Given the description of an element on the screen output the (x, y) to click on. 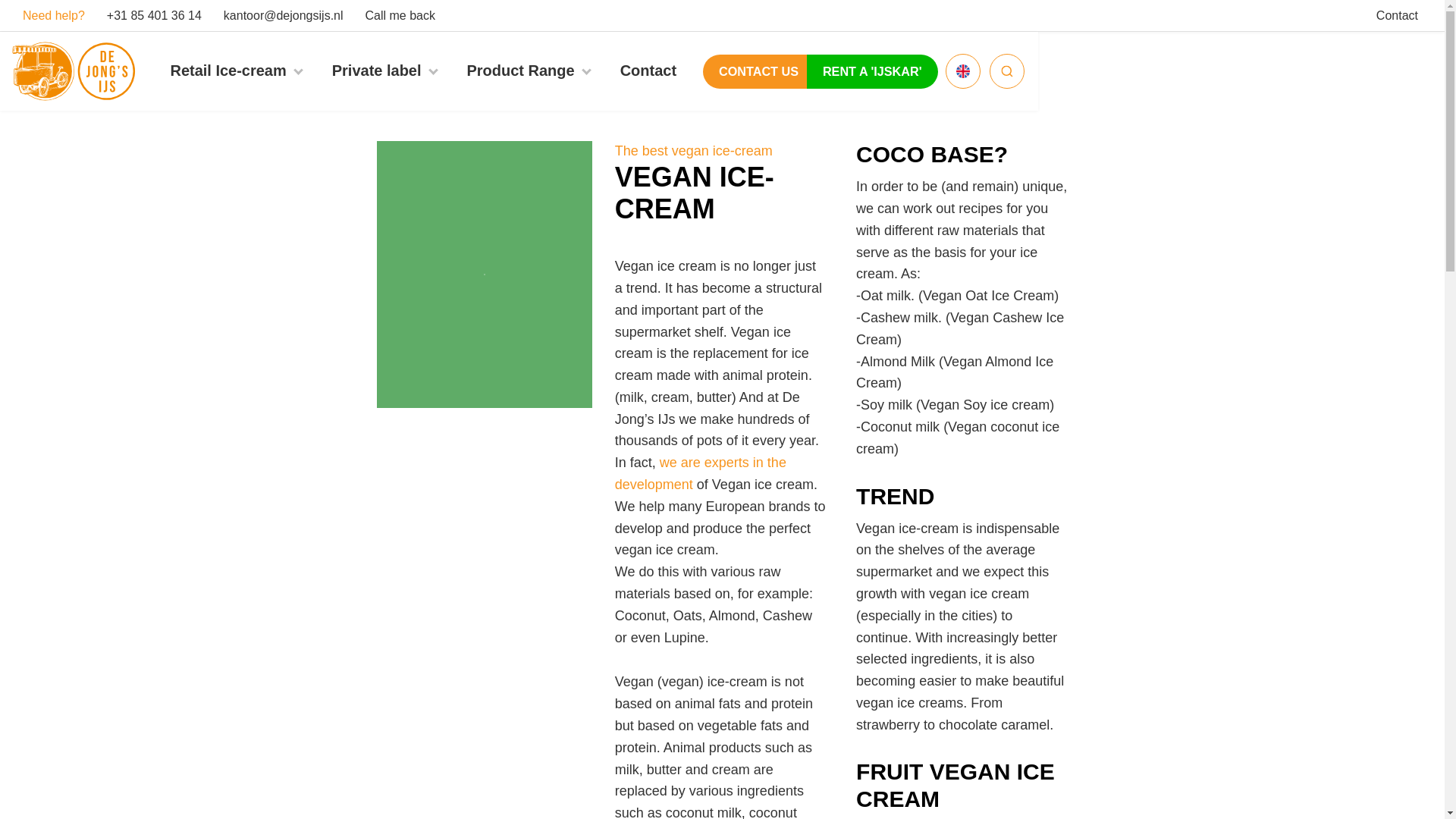
CONTACT US (758, 71)
Product Range (520, 70)
Private label (376, 70)
Retail Ice-cream (227, 70)
Contact (1397, 15)
Need help? (53, 15)
RENT A 'IJSKAR' (871, 71)
Call me back (392, 15)
